Given the description of an element on the screen output the (x, y) to click on. 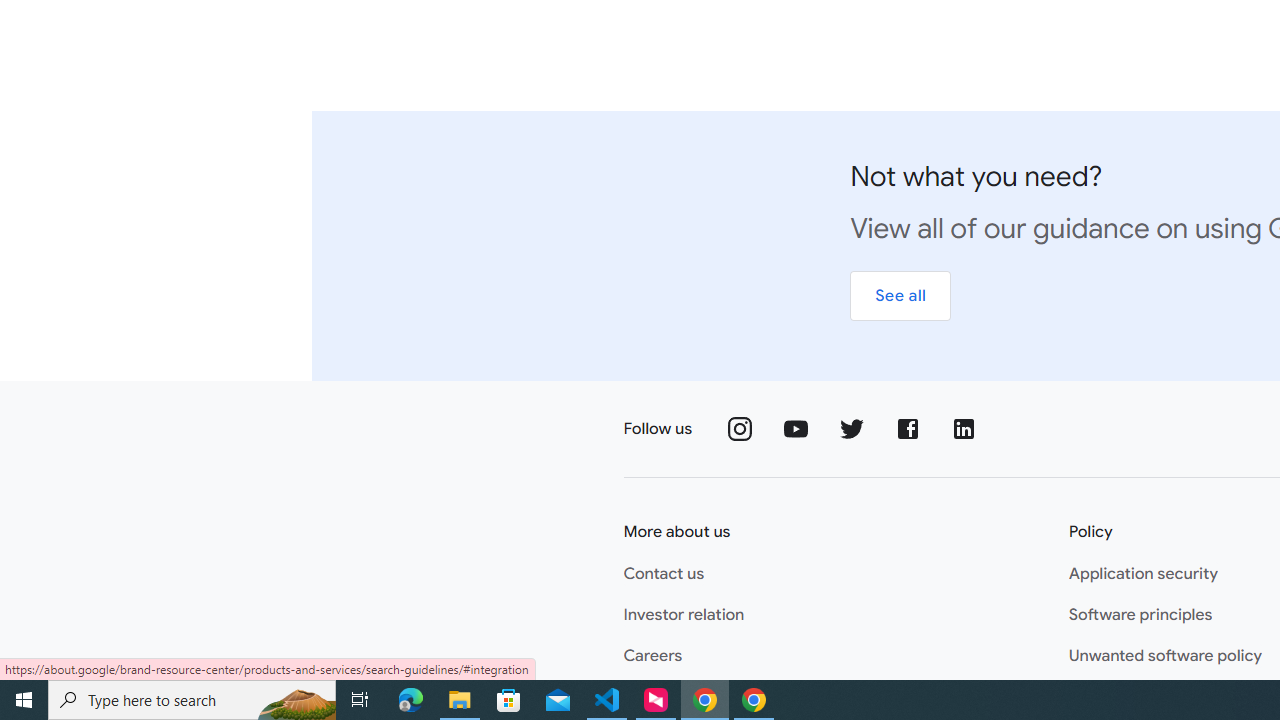
Investor relation (683, 615)
Contact us (664, 574)
Software principles (1140, 615)
Follow us on Facebook (907, 429)
See all (900, 295)
Follow us on Linkedin (964, 429)
Follow us on Twitter (852, 429)
Unwanted software policy (1165, 655)
Application security (1142, 574)
Careers (653, 655)
Follow us on Instagram (740, 429)
Follow us on YouTube (796, 429)
